Given the description of an element on the screen output the (x, y) to click on. 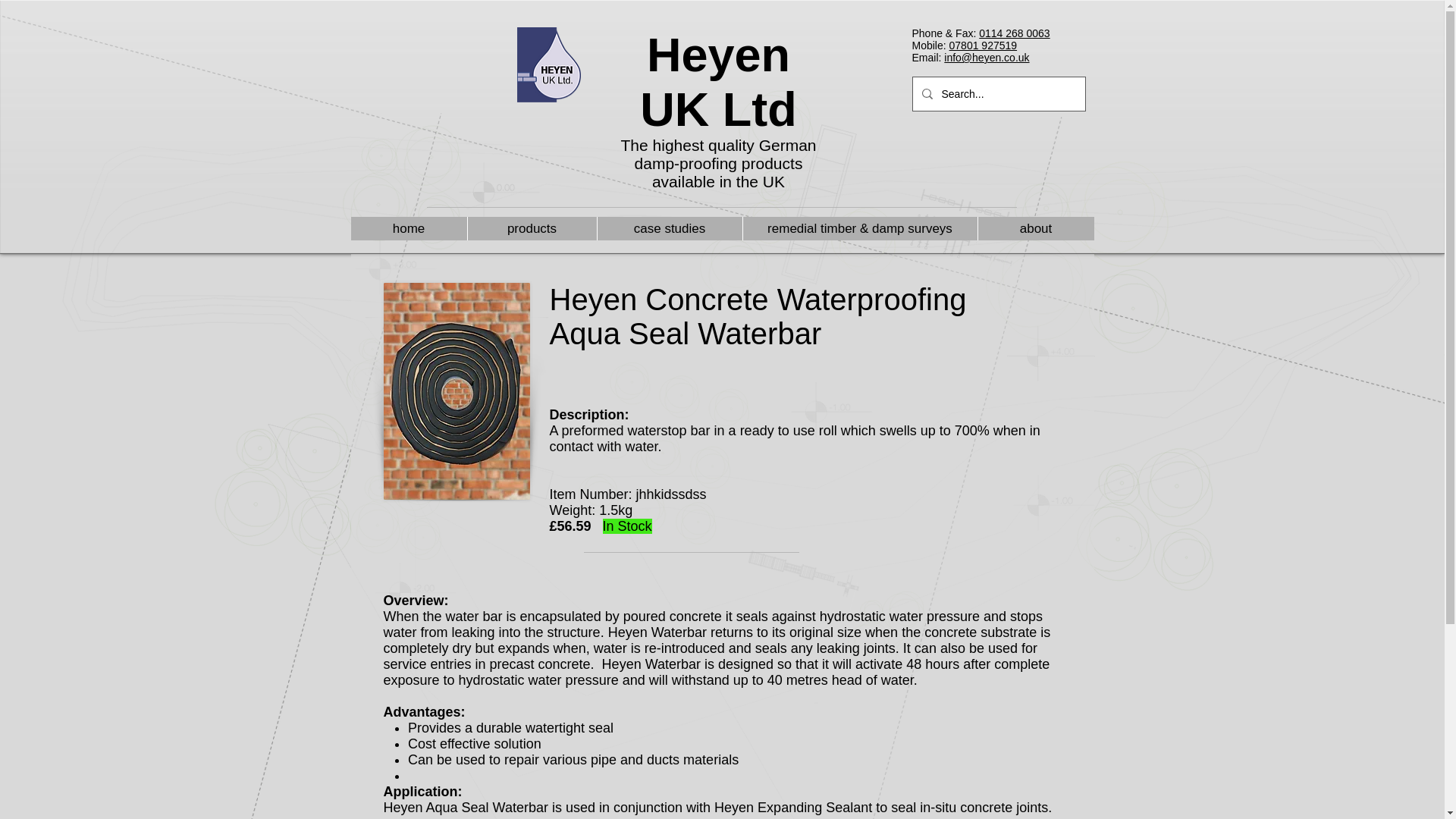
case studies (668, 228)
Heyen UK Ltd (718, 81)
about (1034, 228)
0114 268 0063 (1013, 33)
07801 927519 (983, 45)
home (407, 228)
products (531, 228)
